Given the description of an element on the screen output the (x, y) to click on. 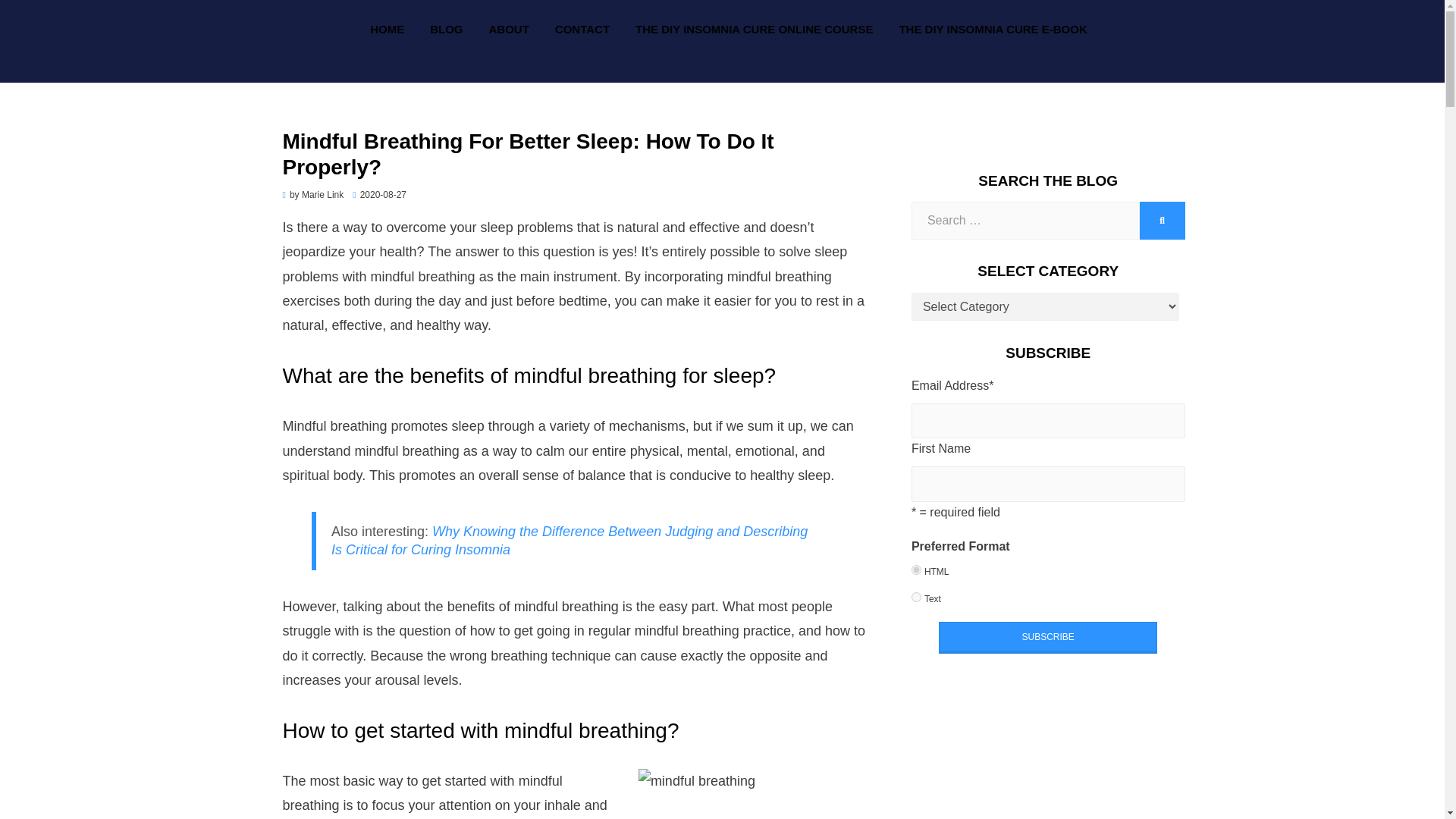
HOME (386, 28)
THE DIY INSOMNIA CURE ONLINE COURSE (754, 28)
BLOG (446, 28)
Search for: (1025, 220)
Subscribe (1048, 637)
CONTACT (582, 28)
2020-08-27 (379, 194)
THE DIY INSOMNIA CURE E-BOOK (985, 28)
